Given the description of an element on the screen output the (x, y) to click on. 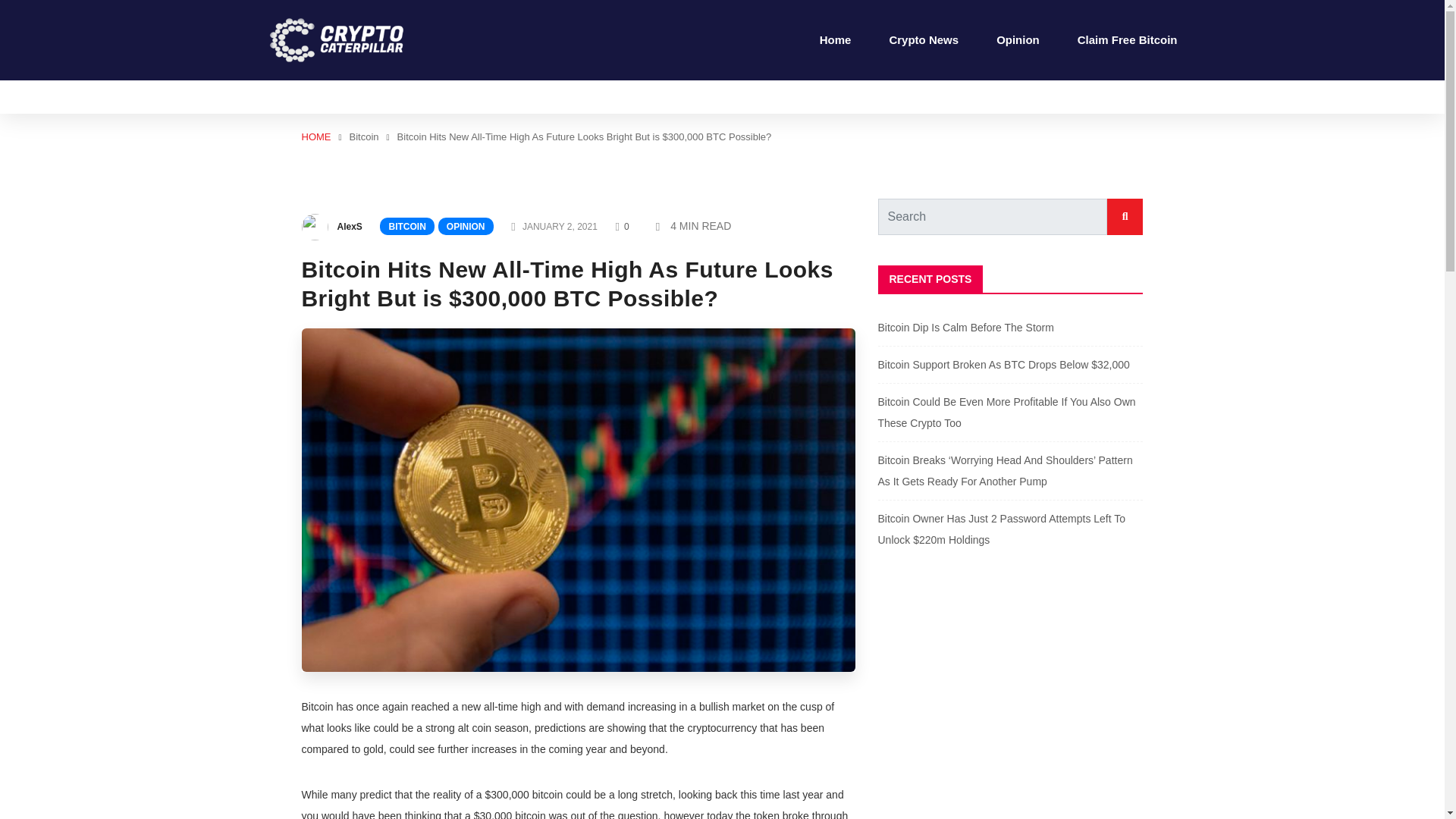
AlexS (348, 226)
BITCOIN (406, 226)
Crypto News (923, 39)
OPINION (465, 226)
HOME (316, 136)
Opinion (1017, 39)
Home (835, 39)
Bitcoin Dip Is Calm Before The Storm (965, 327)
Claim Free Bitcoin (1127, 39)
